Given the description of an element on the screen output the (x, y) to click on. 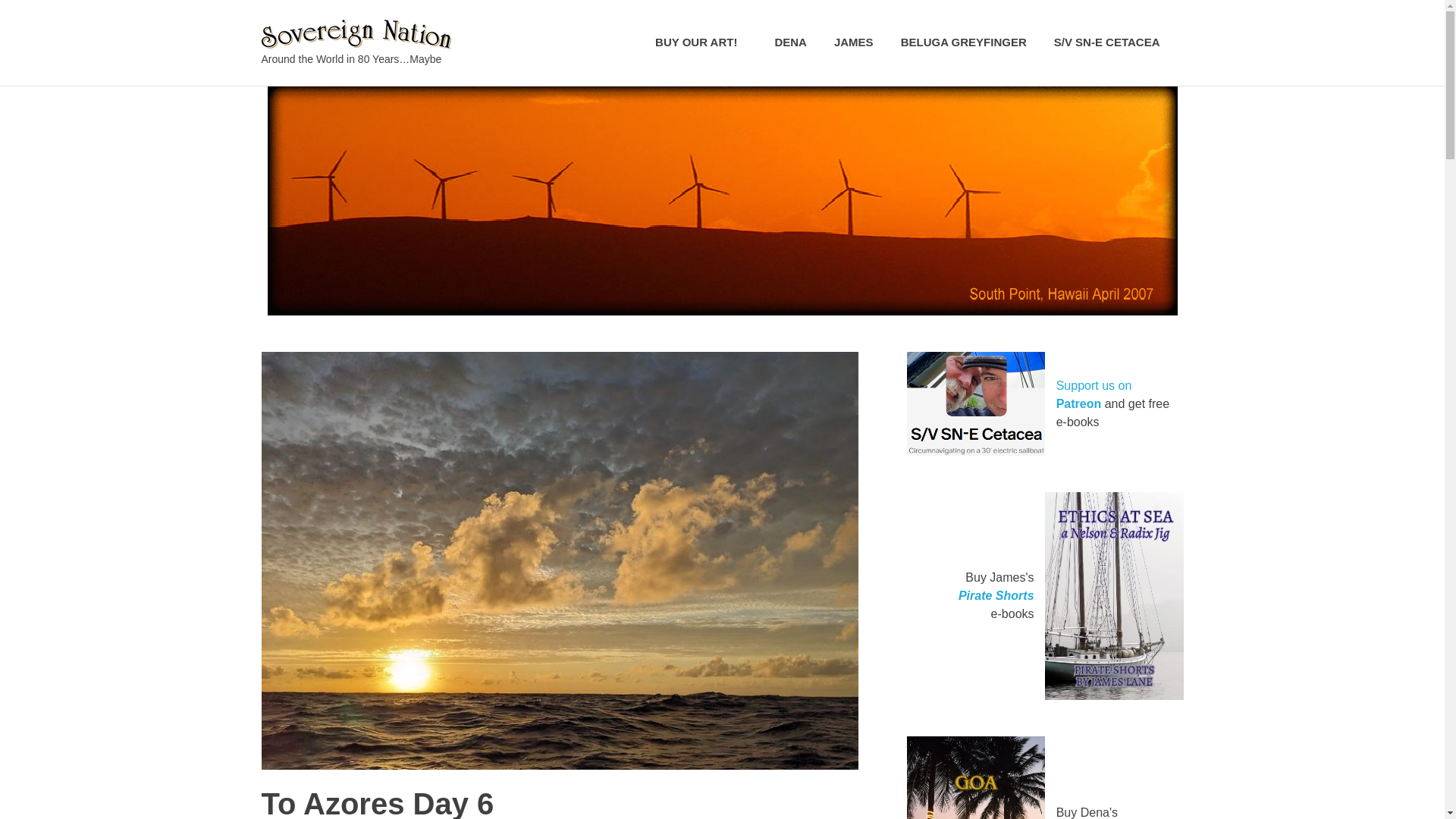
DENA (790, 42)
Support us on Patreon (1094, 394)
Pirate Shorts (995, 594)
JAMES (853, 42)
BUY OUR ART! (701, 42)
BELUGA GREYFINGER (963, 42)
